Given the description of an element on the screen output the (x, y) to click on. 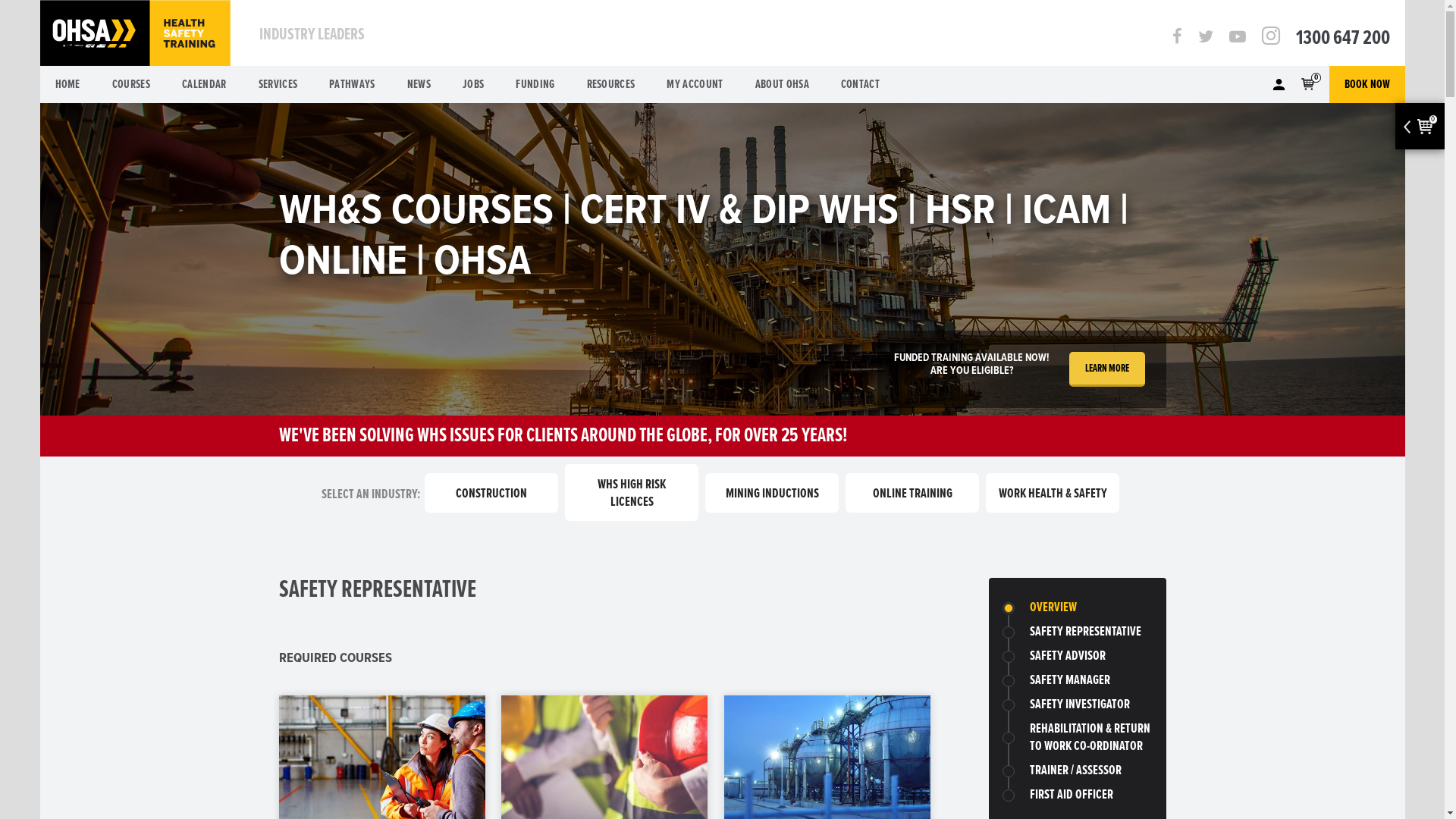
REHABILITATION & RETURN TO WORK CO-ORDINATOR Element type: text (1089, 737)
Member Element type: hover (1277, 84)
COURSES Element type: text (131, 84)
HOME Element type: text (66, 84)
FIRST AID OFFICER Element type: text (1071, 794)
SAFETY MANAGER Element type: text (1069, 680)
FUNDING Element type: text (534, 84)
0 Element type: text (1307, 84)
OVERVIEW Element type: text (1052, 607)
SAFETY INVESTIGATOR Element type: text (1079, 704)
WHS HIGH RISK LICENCES Element type: text (631, 492)
LEARN MORE Element type: text (1107, 368)
SERVICES Element type: text (278, 84)
SAFETY REPRESENTATIVE Element type: text (1085, 631)
ONLINE TRAINING Element type: text (912, 492)
CALENDAR Element type: text (204, 84)
TRAINER / ASSESSOR Element type: text (1075, 770)
JOBS Element type: text (472, 84)
1300 647 200 Element type: text (1349, 37)
CONTACT Element type: text (859, 84)
BOOK NOW Element type: text (1366, 84)
Twitter Element type: hover (1205, 38)
MY ACCOUNT Element type: text (694, 84)
CONSTRUCTION Element type: text (491, 492)
RESOURCES Element type: text (610, 84)
Instagram Element type: hover (1270, 37)
OHSA Element type: hover (134, 34)
MINING INDUCTIONS Element type: text (771, 492)
Facebook Element type: hover (1177, 38)
ABOUT OHSA Element type: text (782, 84)
OHSA Element type: hover (134, 32)
Youtube Element type: hover (1236, 38)
NEWS Element type: text (418, 84)
PATHWAYS Element type: text (352, 84)
SAFETY ADVISOR Element type: text (1067, 656)
WORK HEALTH & SAFETY Element type: text (1052, 492)
